Given the description of an element on the screen output the (x, y) to click on. 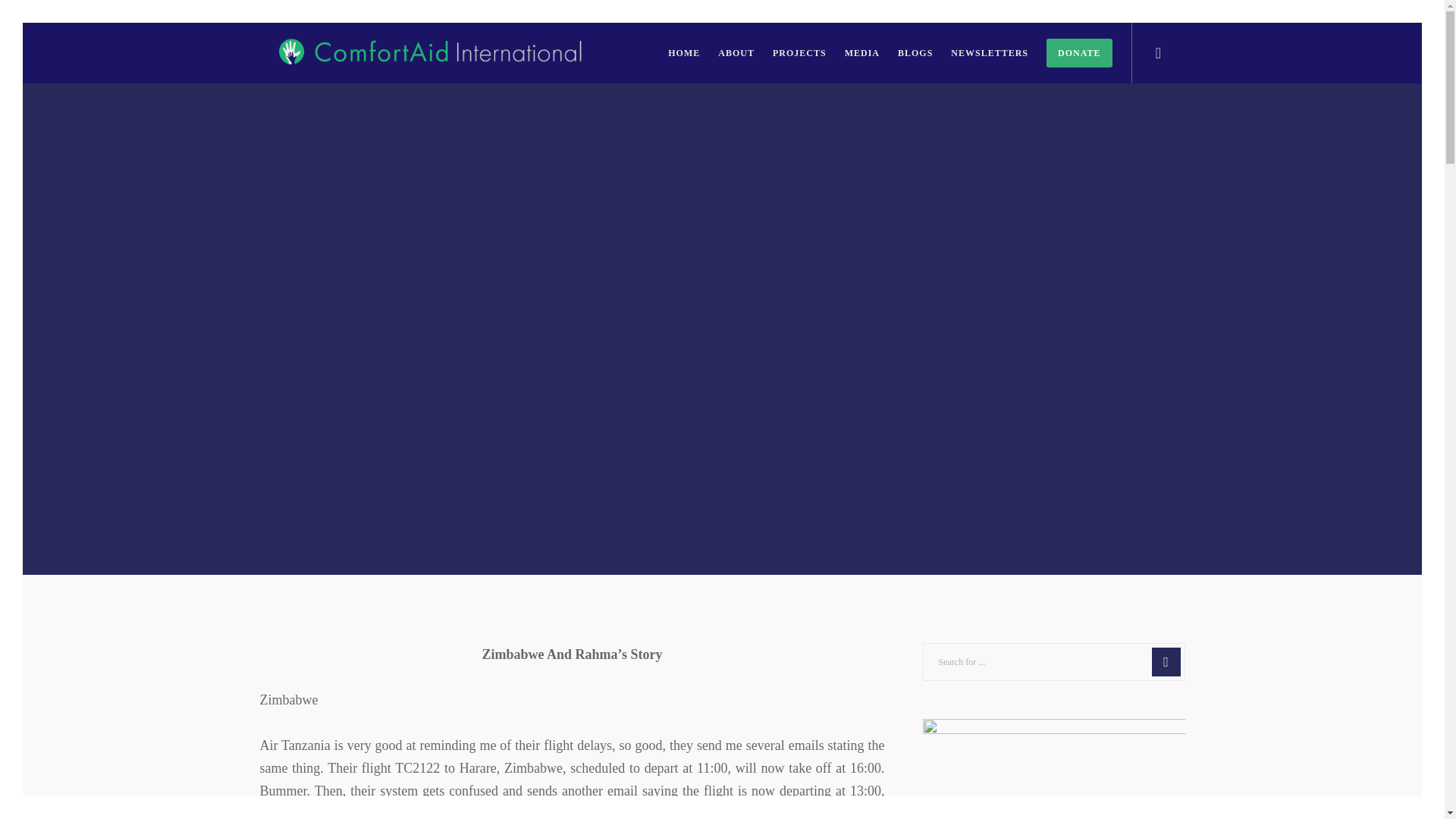
PROJECTS (790, 52)
DONATE (1069, 52)
NEWSLETTERS (980, 52)
MEDIA (853, 52)
ABOUT (727, 52)
BLOGS (906, 52)
HOME (674, 52)
